Given the description of an element on the screen output the (x, y) to click on. 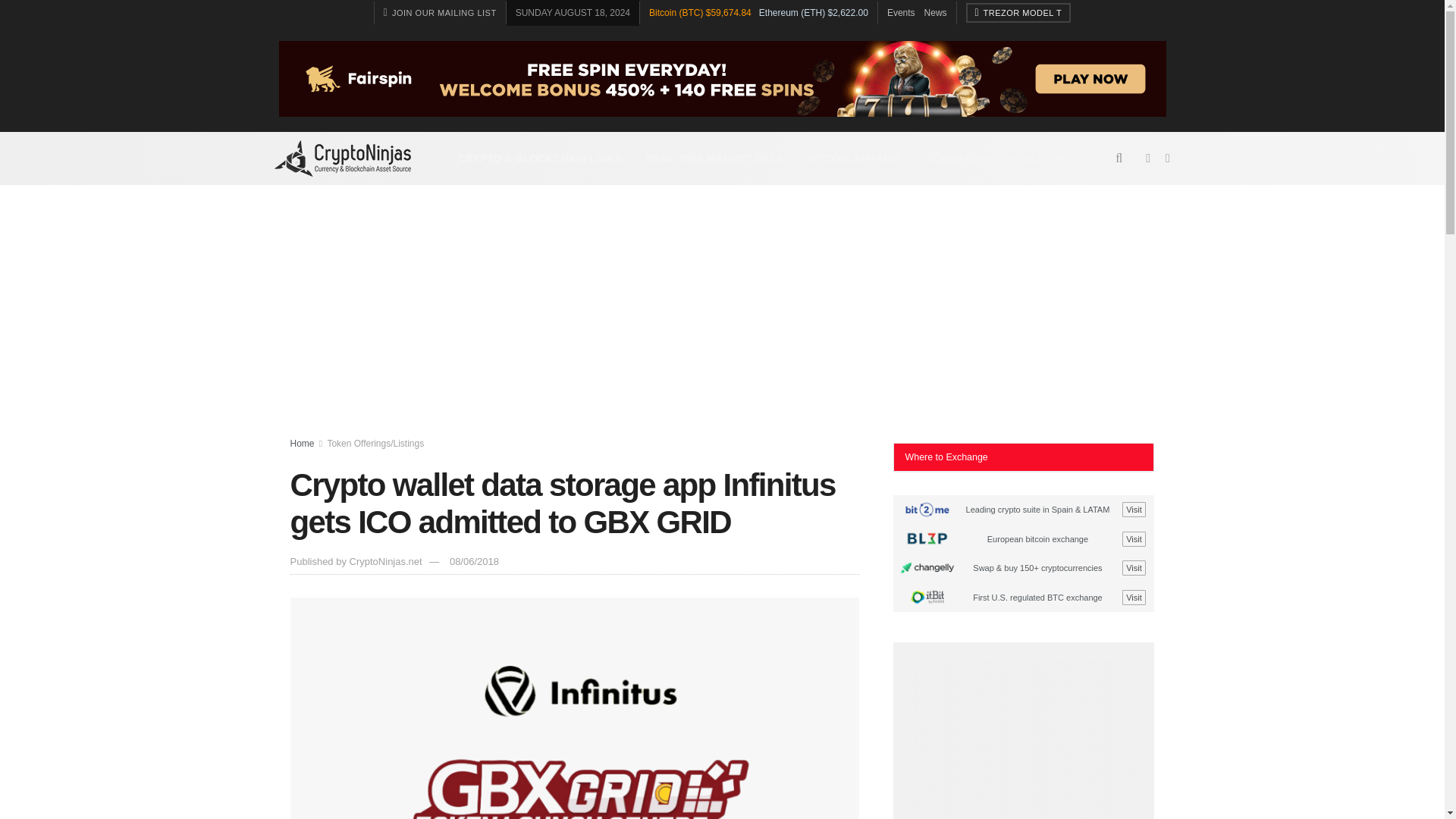
Home (301, 443)
Events (900, 12)
REAL-TIME MARKET DATA (713, 158)
3rd party ad content (1023, 738)
JOIN OUR MAILING LIST (440, 12)
BITCOIN ATM MAP (854, 158)
TREZOR MODEL T (1018, 12)
